Given the description of an element on the screen output the (x, y) to click on. 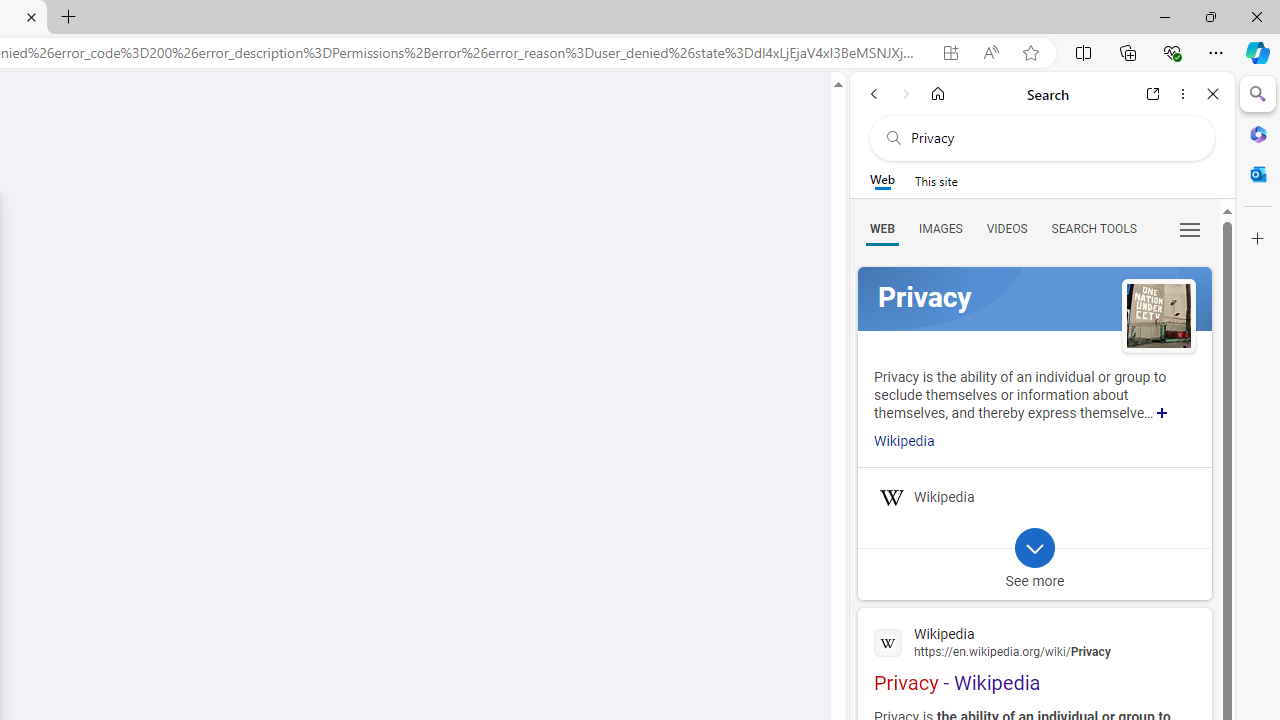
SEARCH TOOLS (1093, 228)
App available. Install Facebook (950, 53)
Customize (1258, 239)
Search Filter, Search Tools (1093, 228)
Class: spl_logobg (1034, 299)
Search the web (1051, 137)
Open link in new tab (1153, 93)
Search Filter, IMAGES (939, 228)
Outlook (1258, 174)
